Given the description of an element on the screen output the (x, y) to click on. 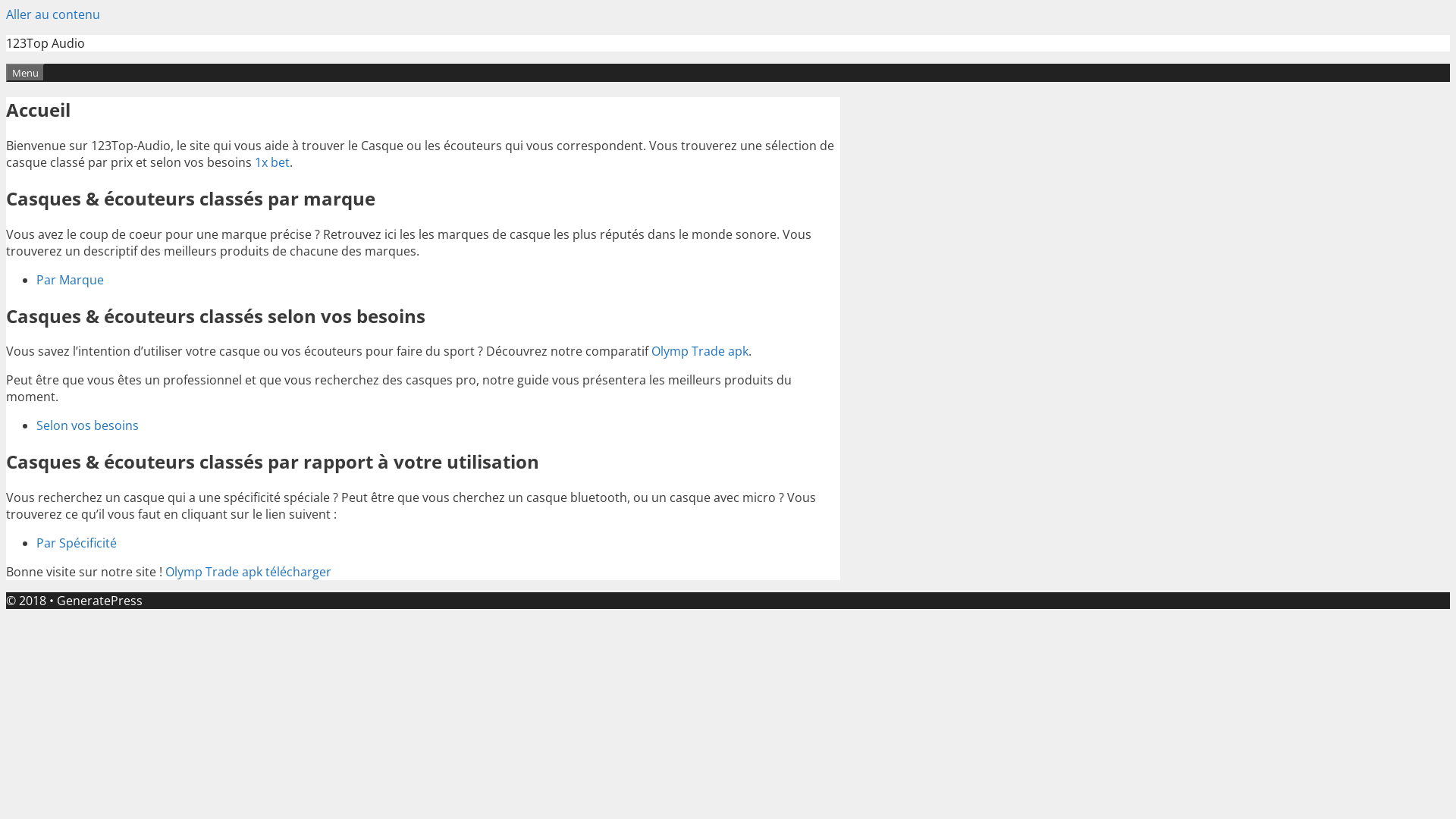
Aller au contenu Element type: text (53, 14)
Menu Element type: text (25, 72)
123Top Audio Element type: text (45, 42)
Selon vos besoins Element type: text (87, 425)
1x bet Element type: text (271, 161)
GeneratePress Element type: text (99, 600)
Par Marque Element type: text (69, 279)
Olymp Trade apk Element type: text (699, 350)
